Given the description of an element on the screen output the (x, y) to click on. 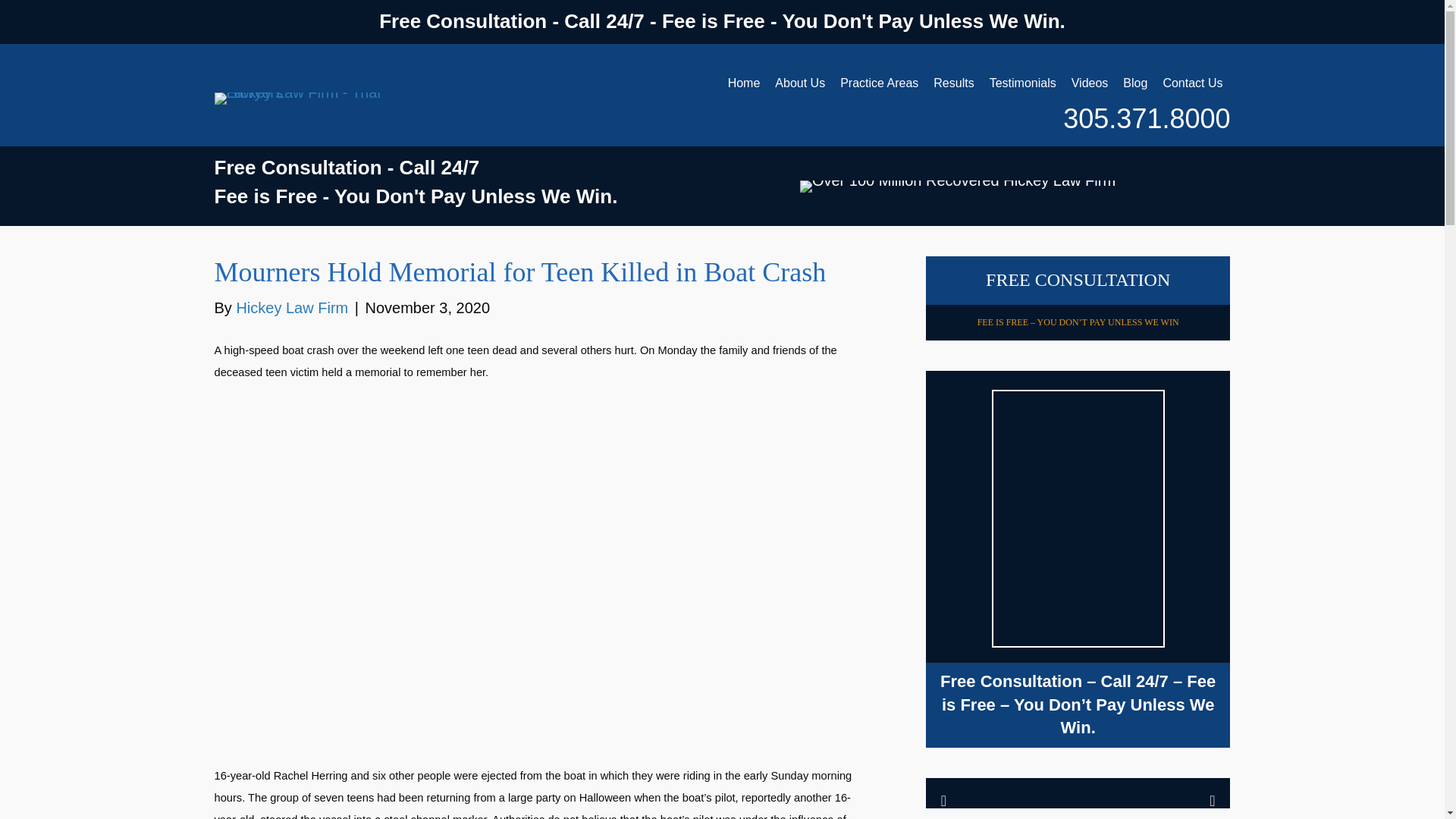
Over 100 Million Recovered Hickey Law Firm (957, 186)
Hickey Law Firm - Trial Lawyers (313, 98)
Practice Areas (879, 82)
About Us (799, 82)
Home (744, 82)
